Given the description of an element on the screen output the (x, y) to click on. 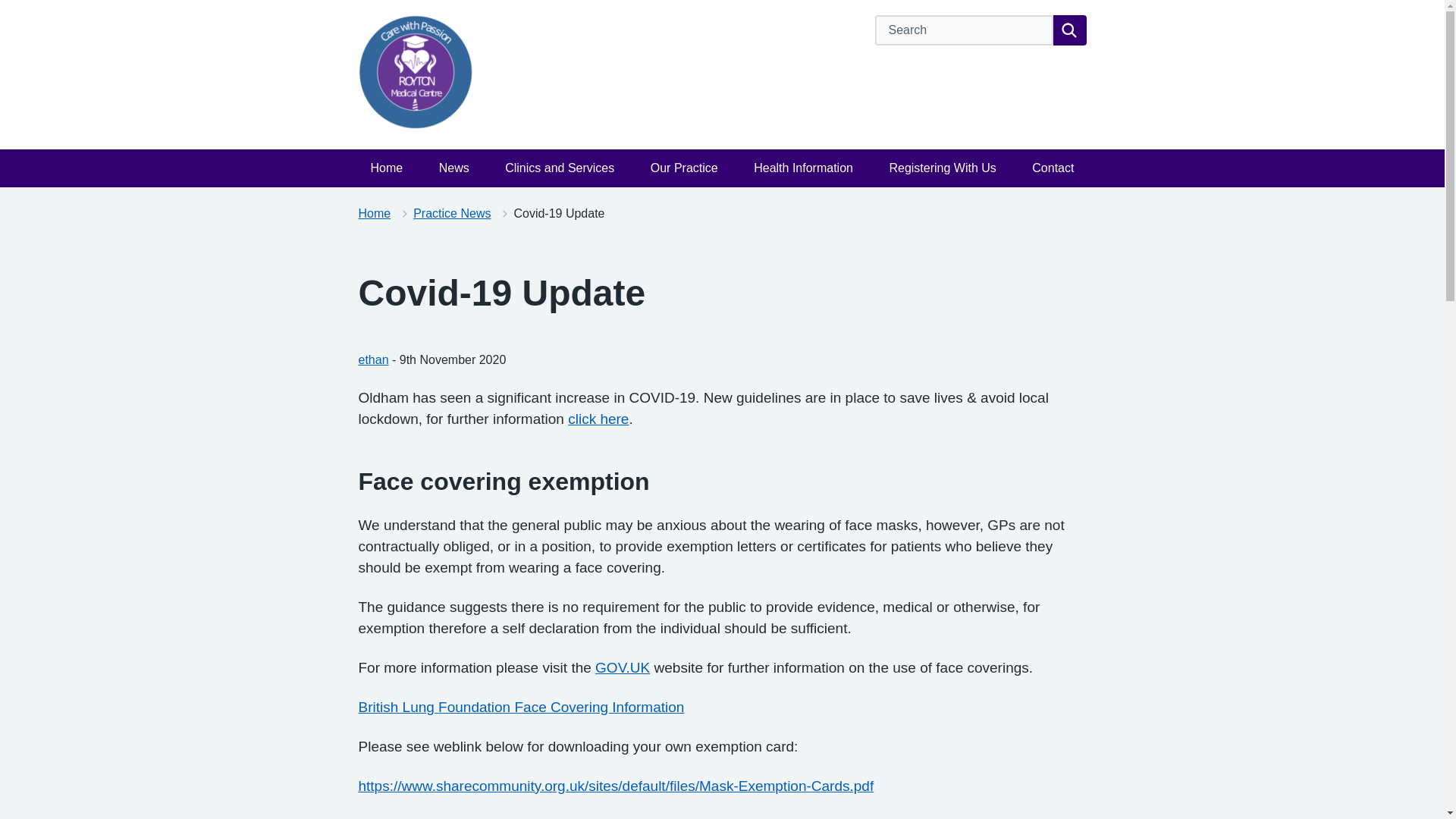
Clinics and Services (559, 168)
Home (374, 213)
Practice News (451, 213)
News (453, 168)
Registering With Us (941, 168)
Health Information (802, 168)
British Lung Foundation Face Covering Information (521, 706)
Search (1069, 30)
Contact (1053, 168)
GOV.UK (622, 667)
Home (386, 168)
Our Practice (684, 168)
click here (597, 418)
ethan (373, 359)
